Given the description of an element on the screen output the (x, y) to click on. 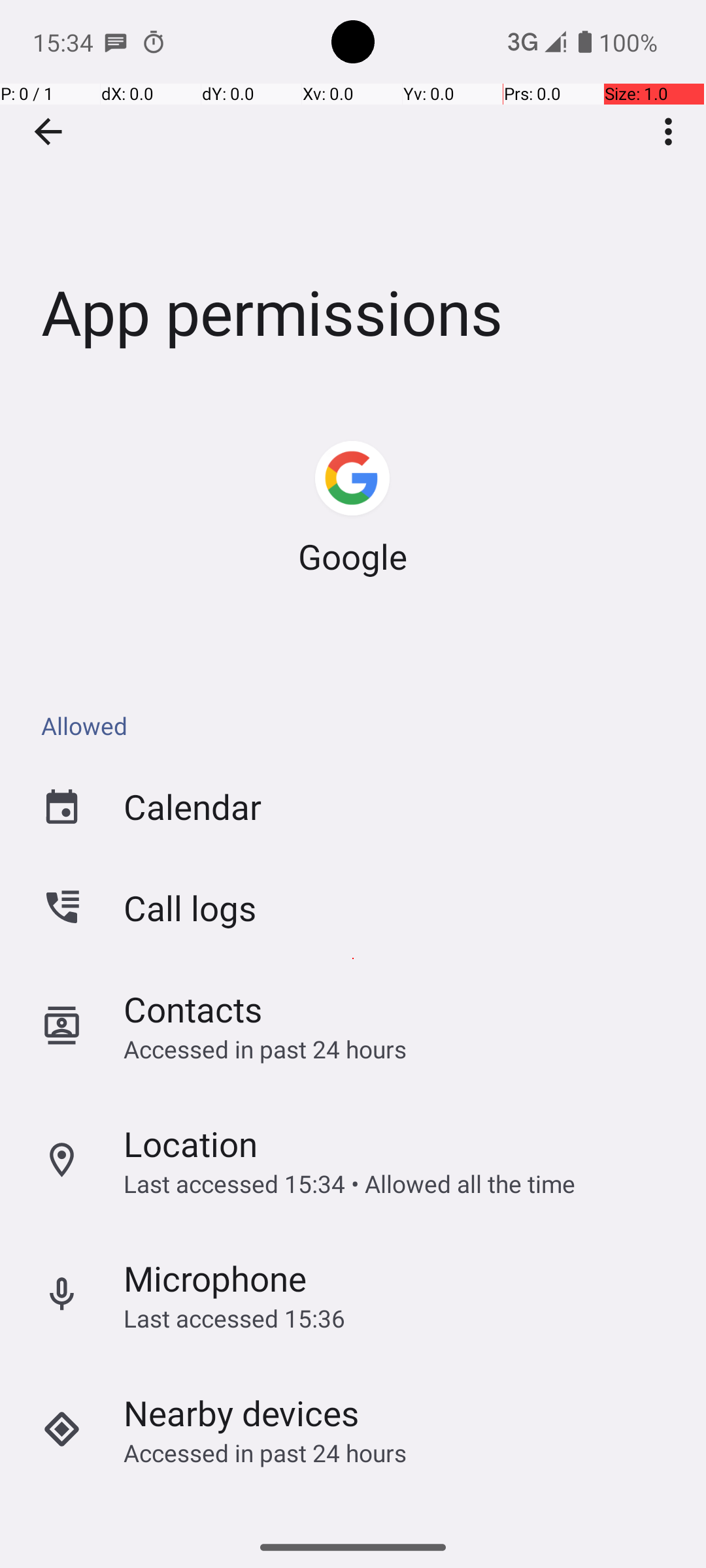
App permissions Element type: android.widget.FrameLayout (353, 195)
Allowed Element type: android.widget.TextView (359, 725)
Call logs Element type: android.widget.TextView (189, 907)
Accessed in past 24 hours Element type: android.widget.TextView (264, 1048)
Last accessed 15:34 • Allowed all the time Element type: android.widget.TextView (349, 1181)
Microphone Element type: android.widget.TextView (215, 1276)
Last accessed 15:36 Element type: android.widget.TextView (234, 1316)
Nearby devices Element type: android.widget.TextView (241, 1409)
